Given the description of an element on the screen output the (x, y) to click on. 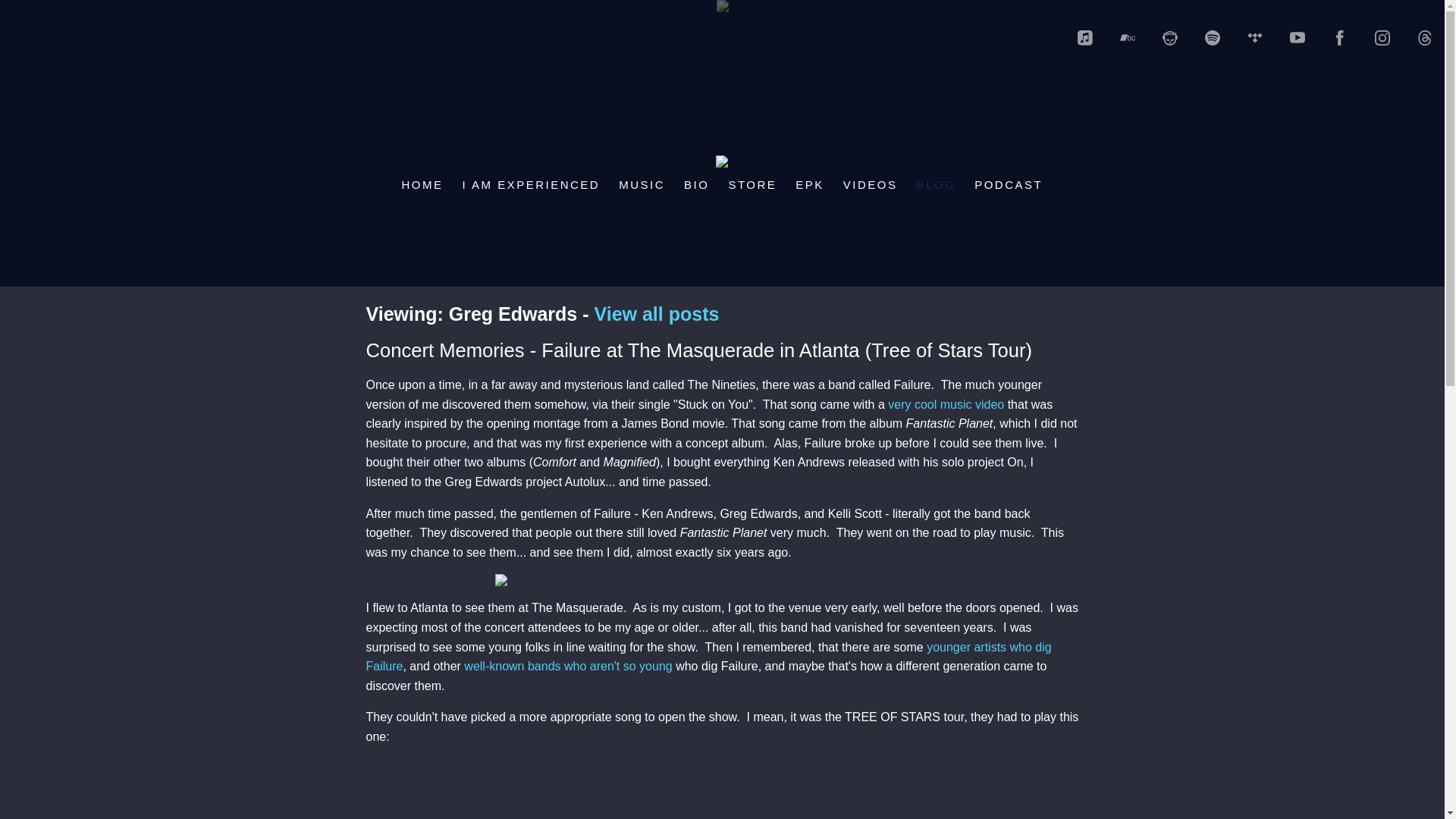
MUSIC (641, 183)
HOME (422, 183)
BIO (696, 183)
I AM EXPERIENCED (531, 183)
STORE (752, 183)
